Given the description of an element on the screen output the (x, y) to click on. 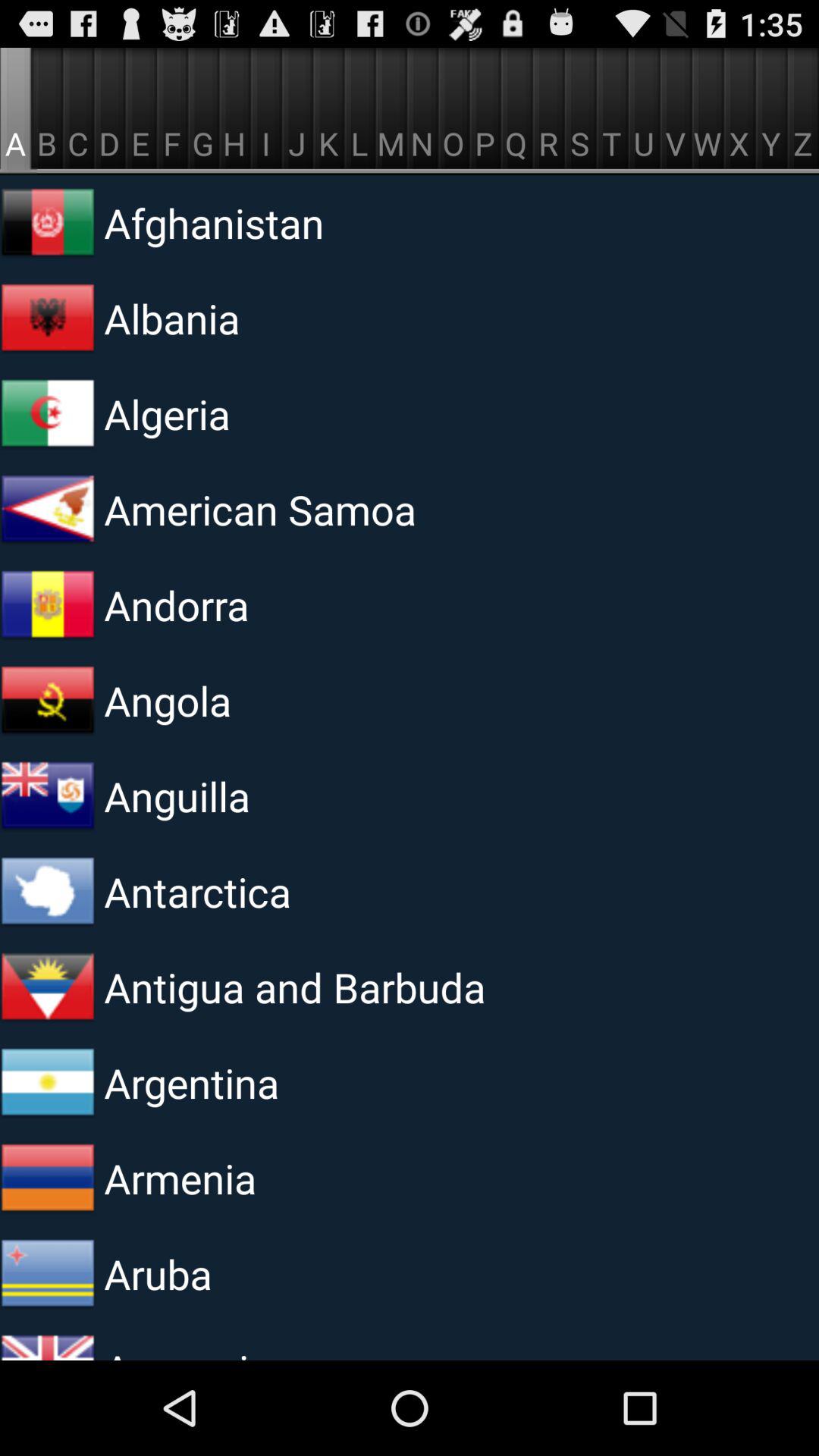
scroll until andorra app (290, 604)
